Given the description of an element on the screen output the (x, y) to click on. 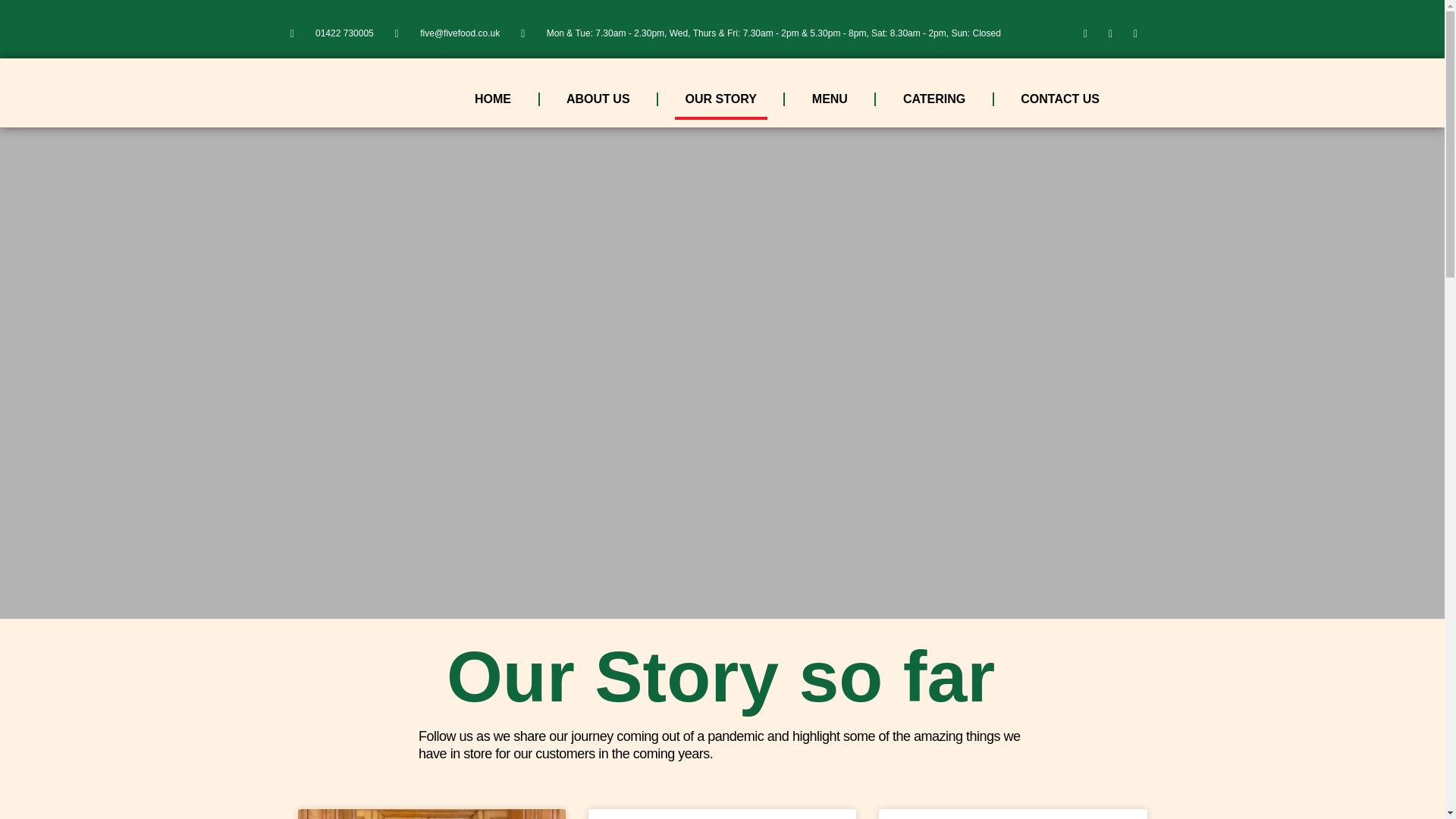
ABOUT US (598, 98)
HOME (492, 98)
OUR STORY (721, 98)
MENU (830, 98)
CONTACT US (1059, 98)
CATERING (933, 98)
